Given the description of an element on the screen output the (x, y) to click on. 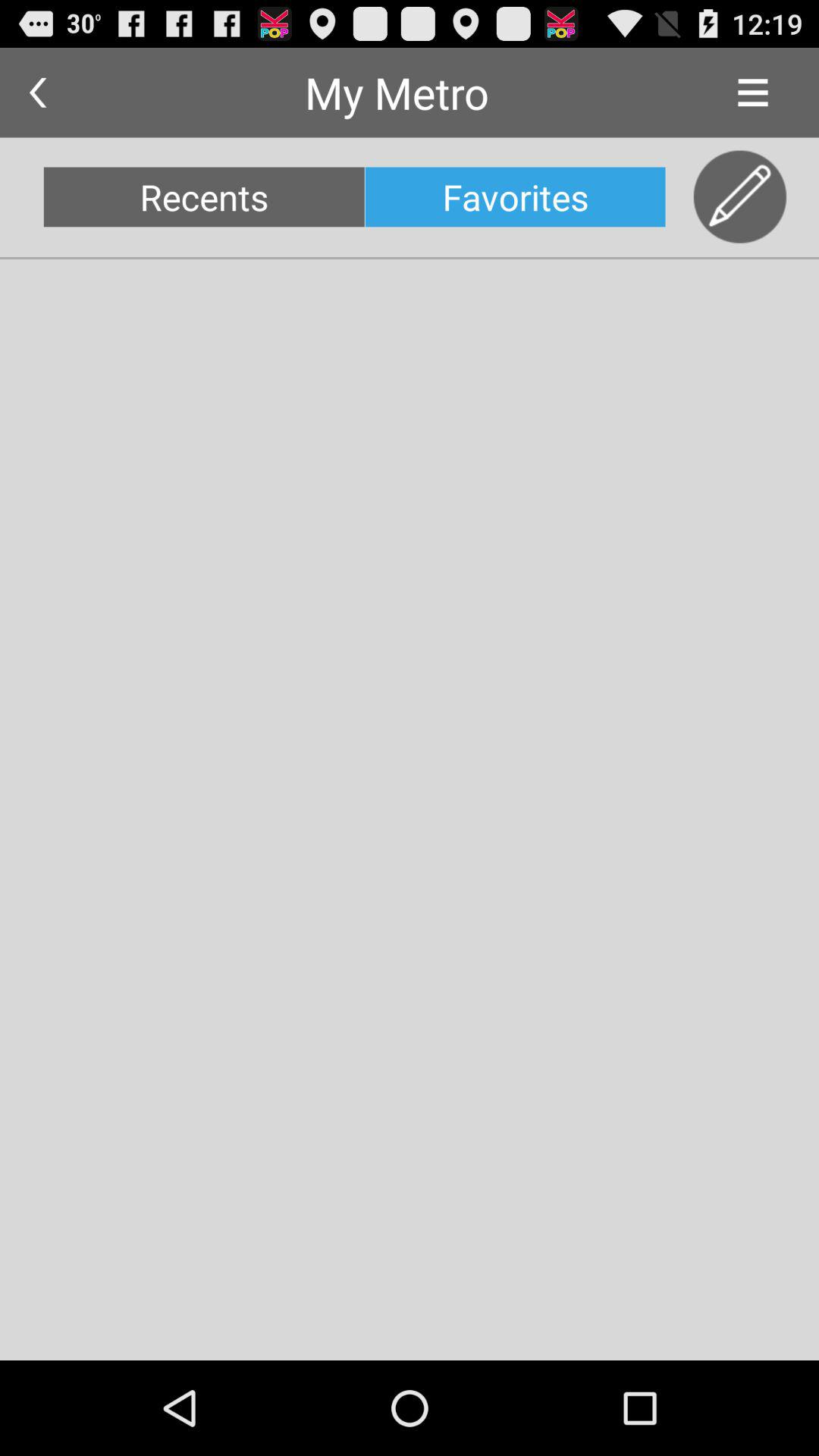
tap item to the right of favorites icon (740, 197)
